Given the description of an element on the screen output the (x, y) to click on. 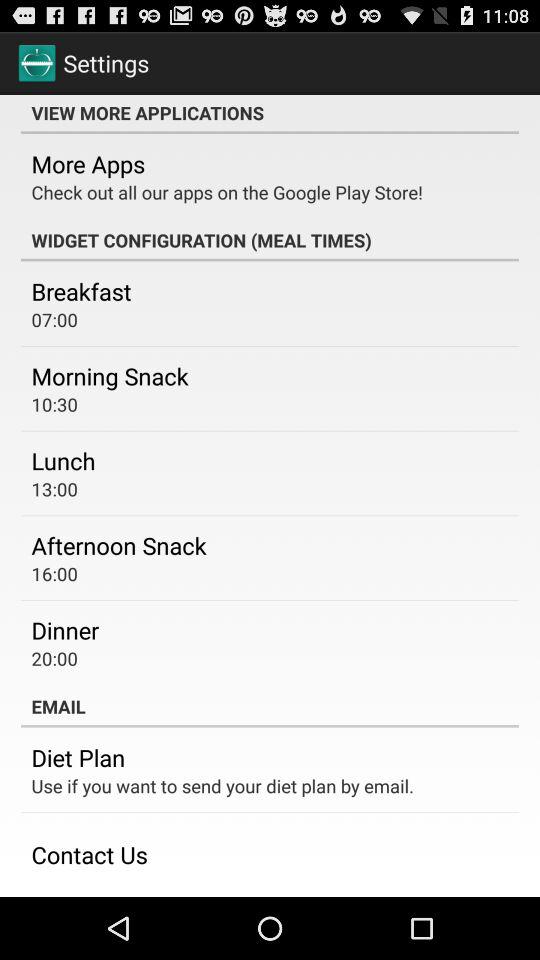
choose the check out all app (227, 191)
